Given the description of an element on the screen output the (x, y) to click on. 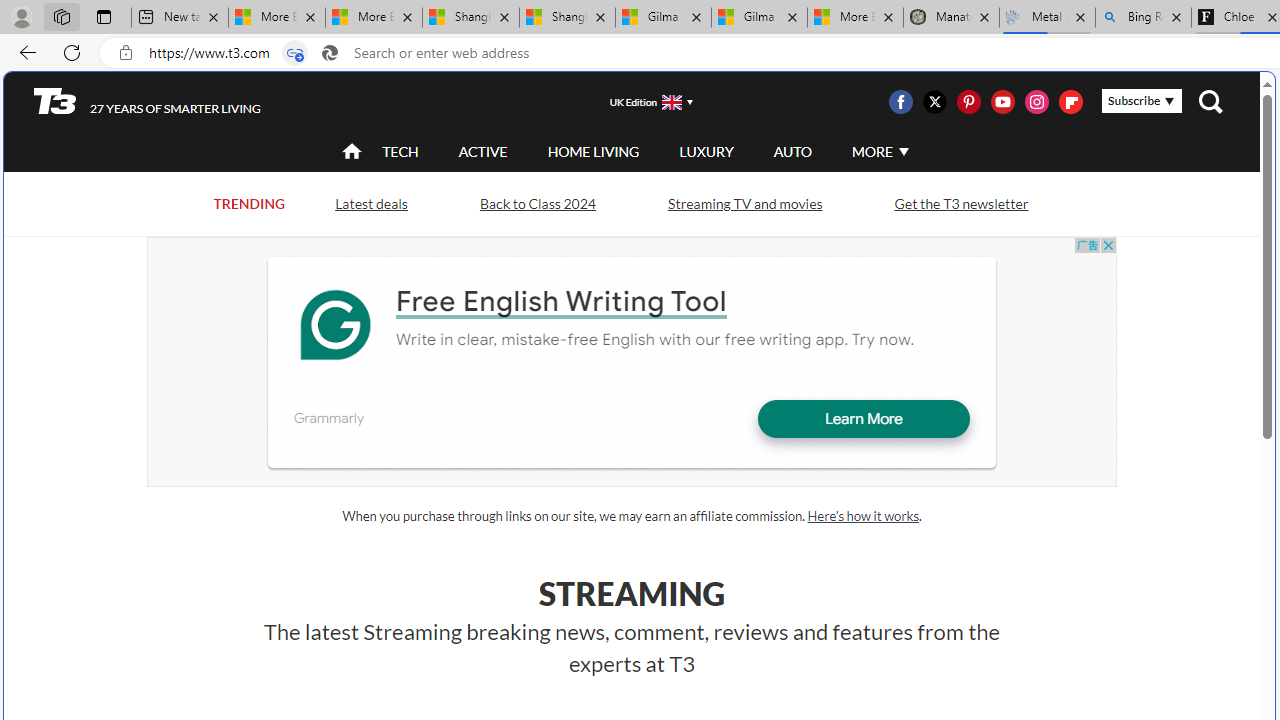
LUXURY (705, 151)
Latest deals (370, 202)
Tabs in split screen (294, 53)
Class: svg-arrow-down (903, 151)
Subscribe (1141, 101)
Visit us on Instagram (1037, 101)
TECH (399, 151)
Streaming TV and movies (744, 204)
Get the T3 newsletter (960, 204)
Bing Real Estate - Home sales and rental listings (1143, 17)
ACTIVE (483, 151)
T3 27 YEARS OF SMARTER LIVING (147, 101)
